Given the description of an element on the screen output the (x, y) to click on. 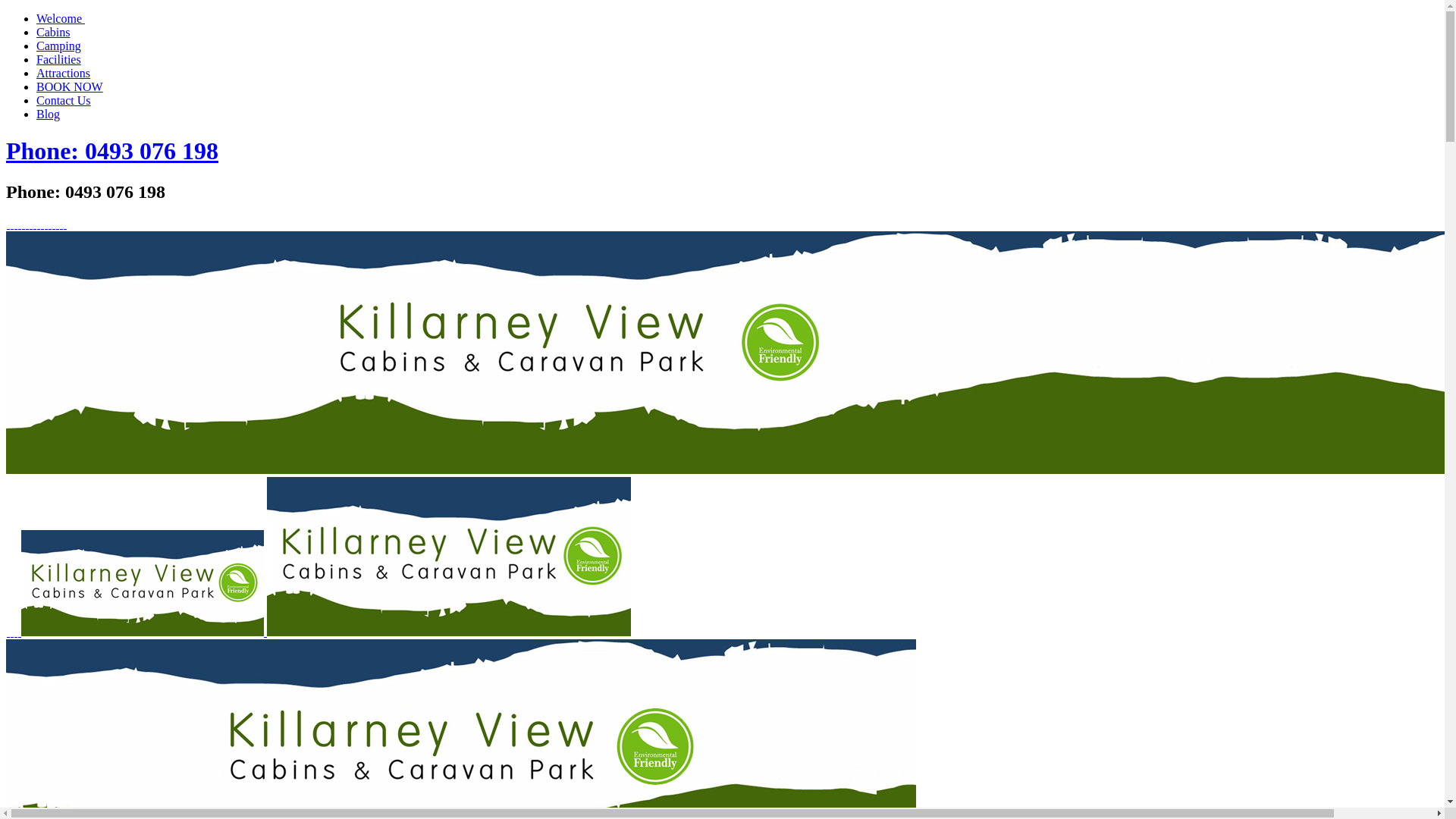
BOOK NOW Element type: text (69, 86)
Attractions Element type: text (63, 72)
Cabins Element type: text (52, 31)
Welcome  Element type: text (60, 18)
Camping Element type: text (58, 45)
Facilities Element type: text (58, 59)
Blog Element type: text (47, 113)
Contact Us Element type: text (63, 100)
Phone: 0493 076 198 Element type: text (112, 150)
